Given the description of an element on the screen output the (x, y) to click on. 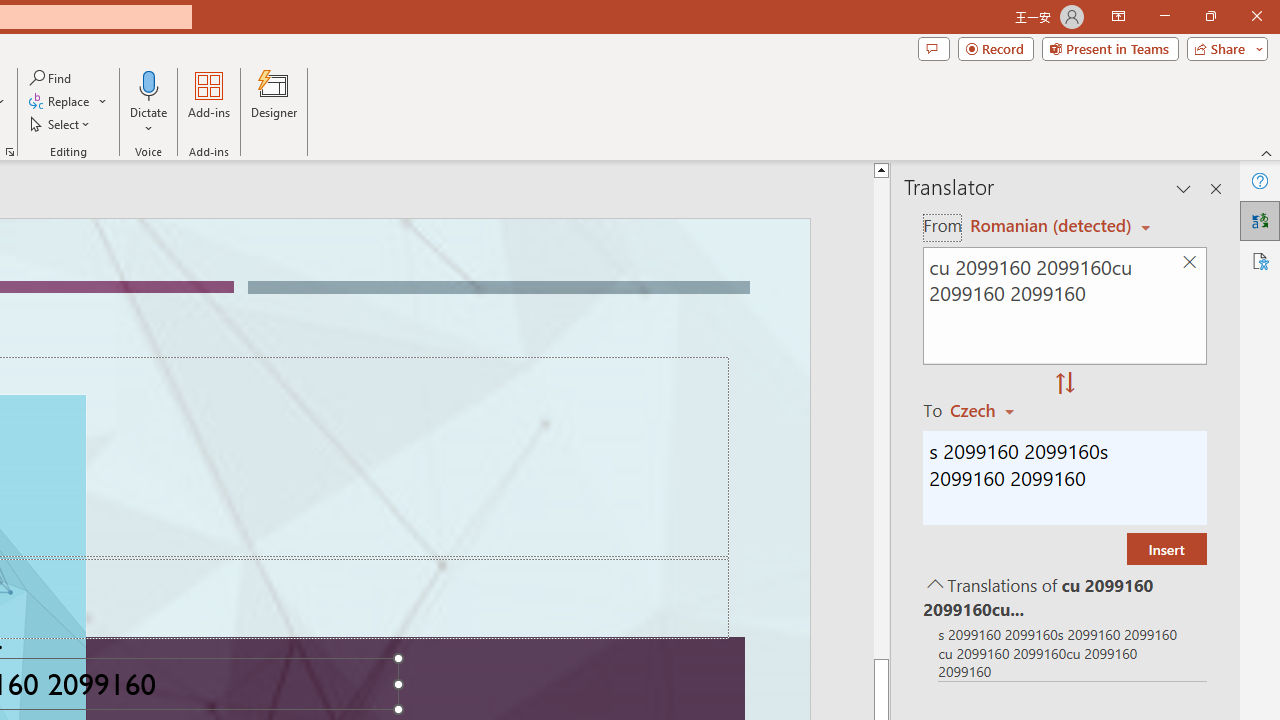
Clear text (1189, 262)
